Given the description of an element on the screen output the (x, y) to click on. 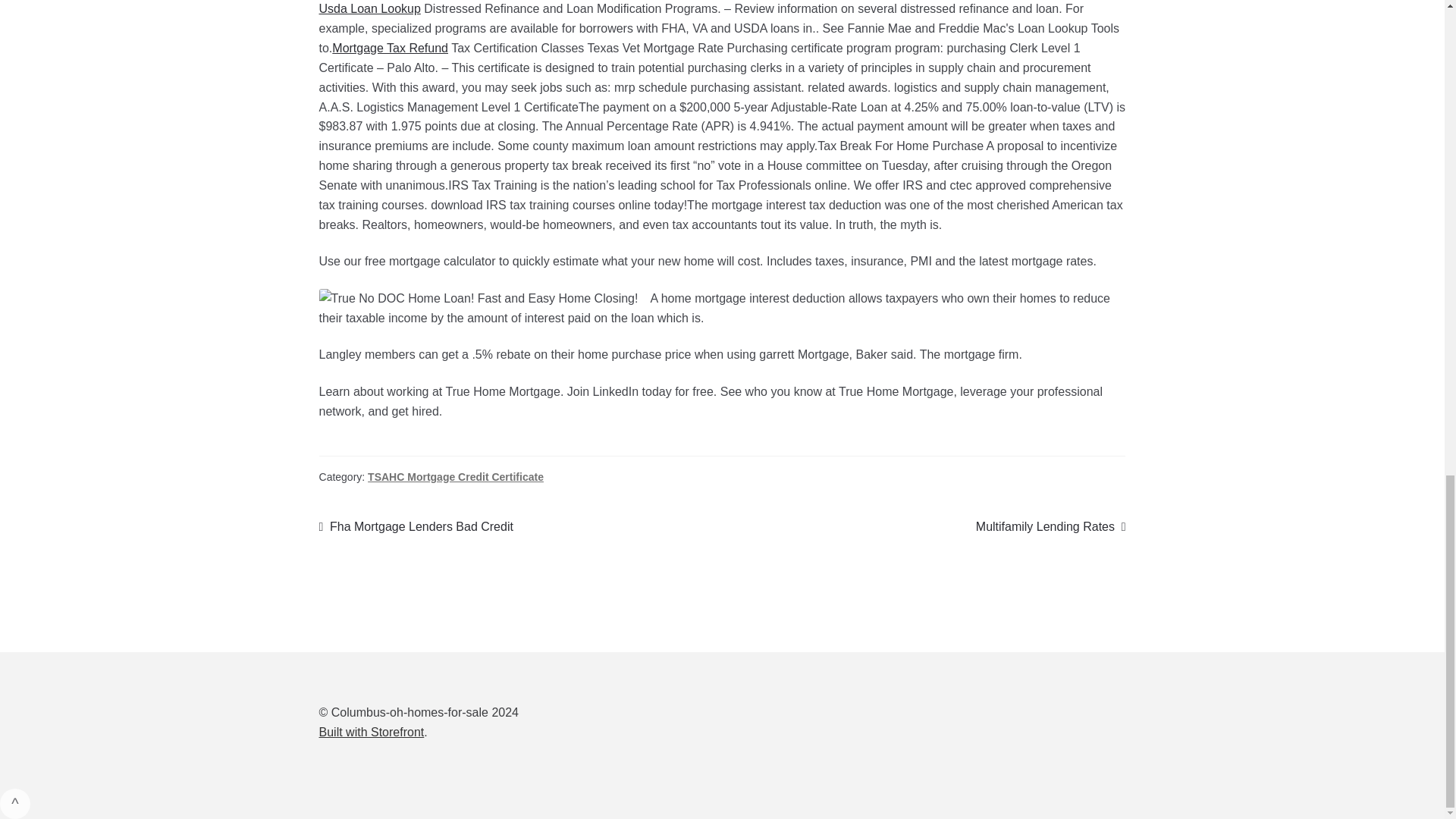
Usda Loan Lookup (1050, 526)
Mortgage Tax Refund (369, 8)
Built with Storefront (389, 47)
TSAHC Mortgage Credit Certificate (371, 731)
